Given the description of an element on the screen output the (x, y) to click on. 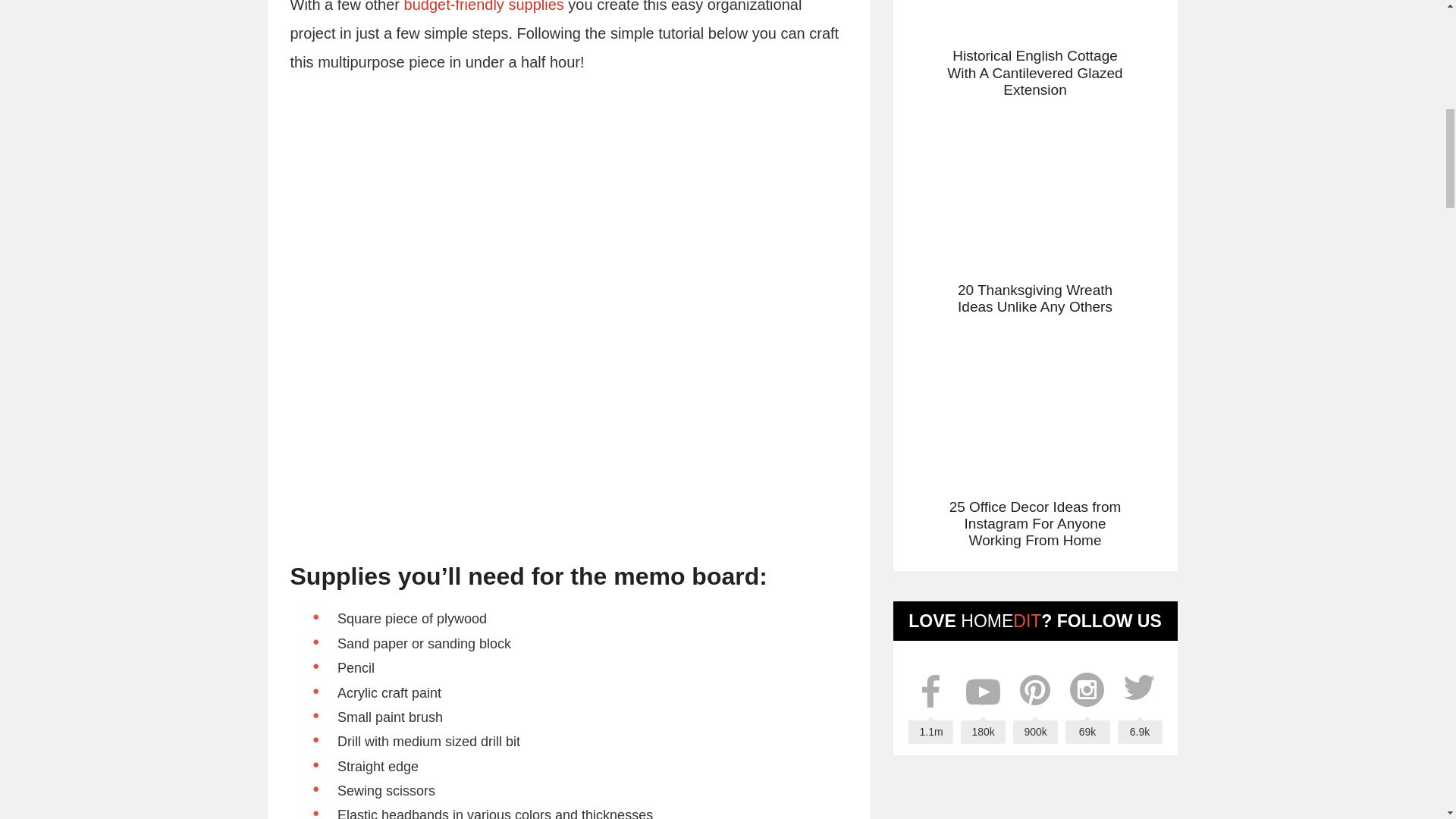
budget-friendly supplies (484, 6)
20 Thanksgiving Wreath Ideas Unlike Any Others (1035, 209)
20 Thanksgiving Wreath Ideas Unlike Any Others (1035, 209)
